Given the description of an element on the screen output the (x, y) to click on. 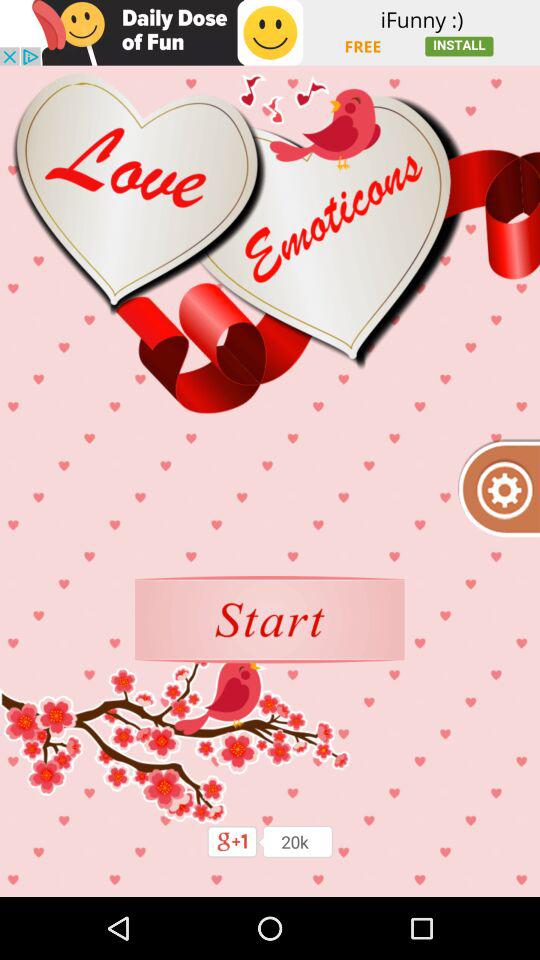
switch daily dose of fun advertisement (270, 32)
